Given the description of an element on the screen output the (x, y) to click on. 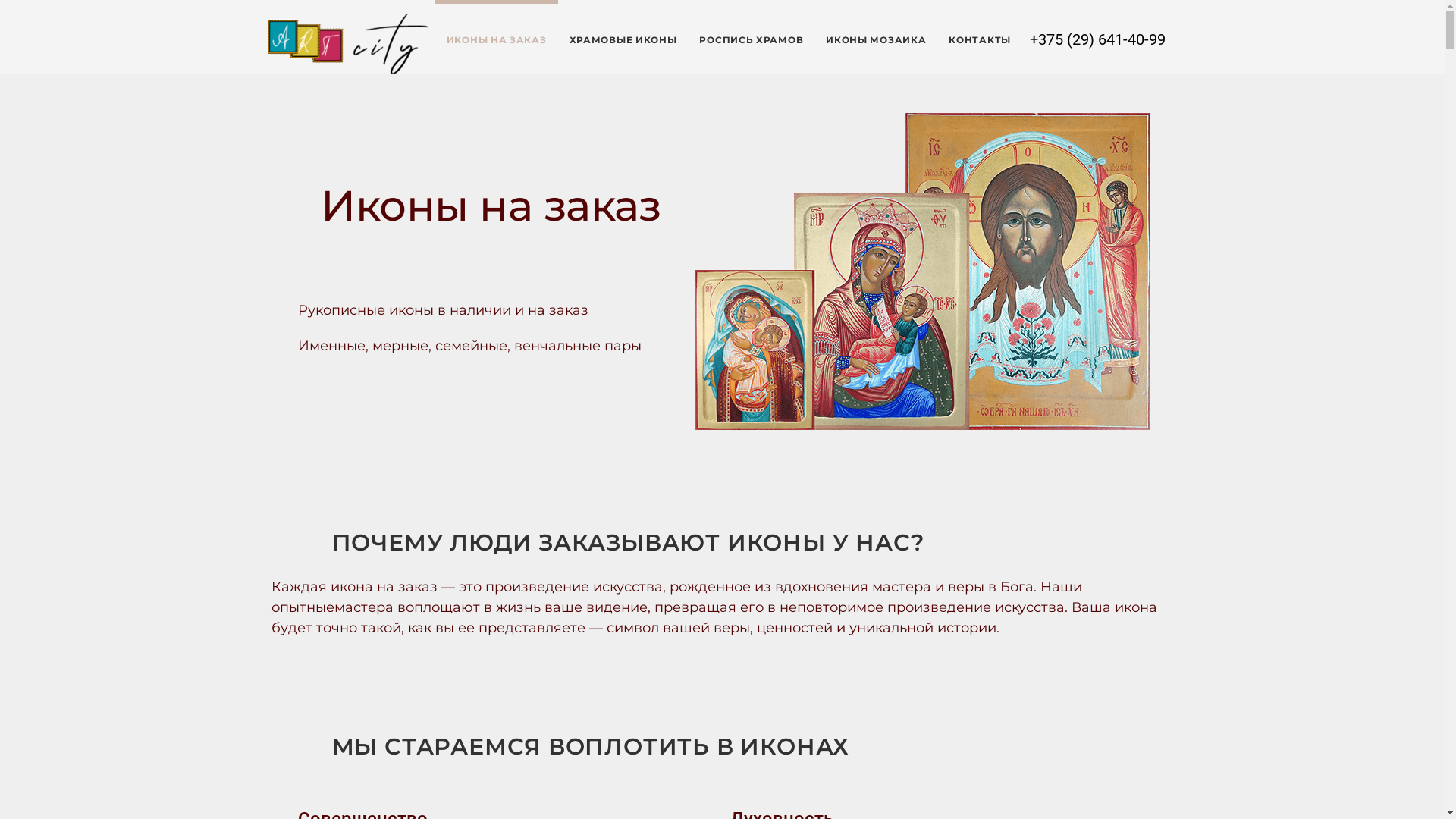
+375 (29) 641-40-99 Element type: text (1097, 39)
